Given the description of an element on the screen output the (x, y) to click on. 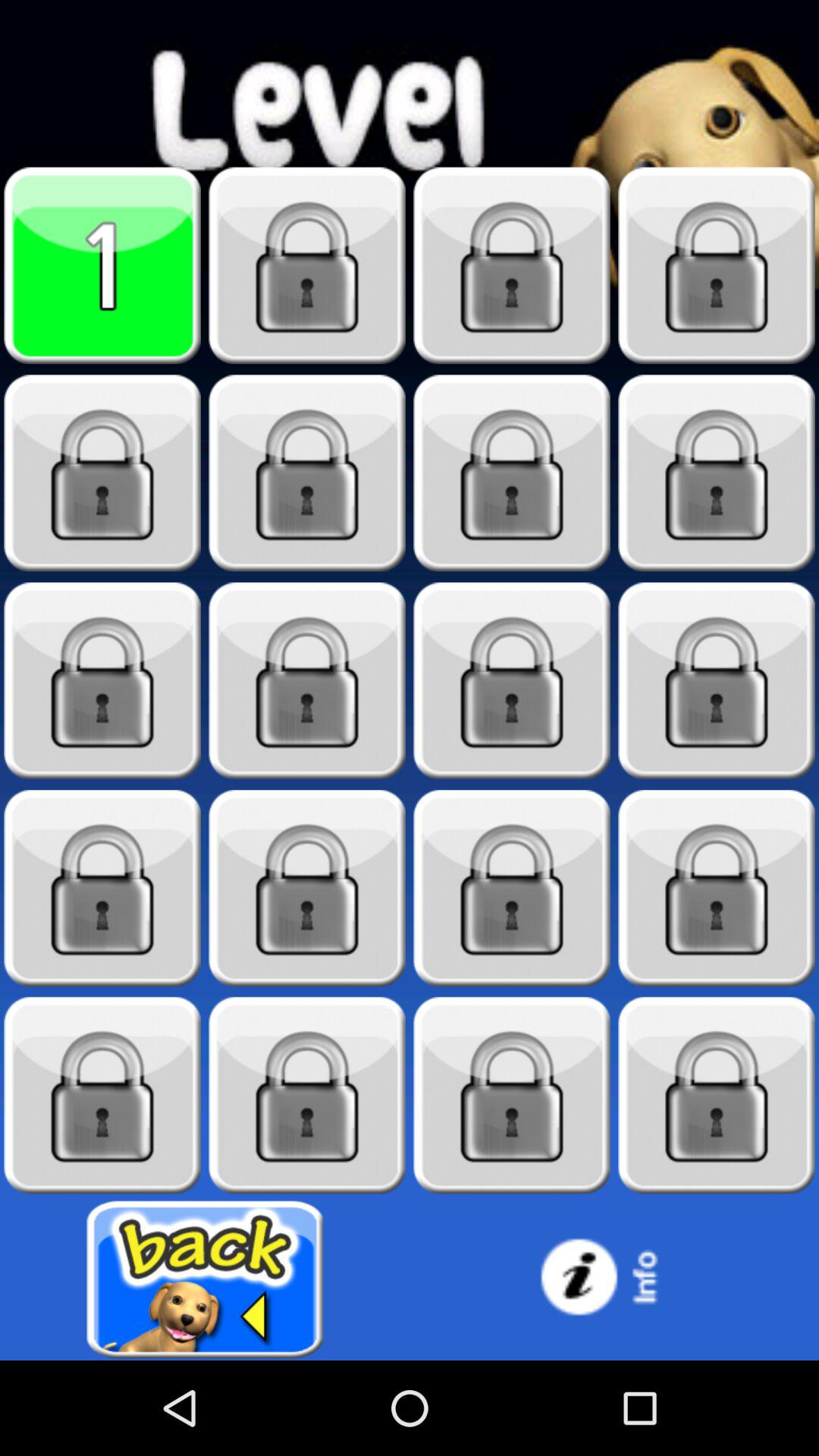
unlock the session (102, 473)
